Given the description of an element on the screen output the (x, y) to click on. 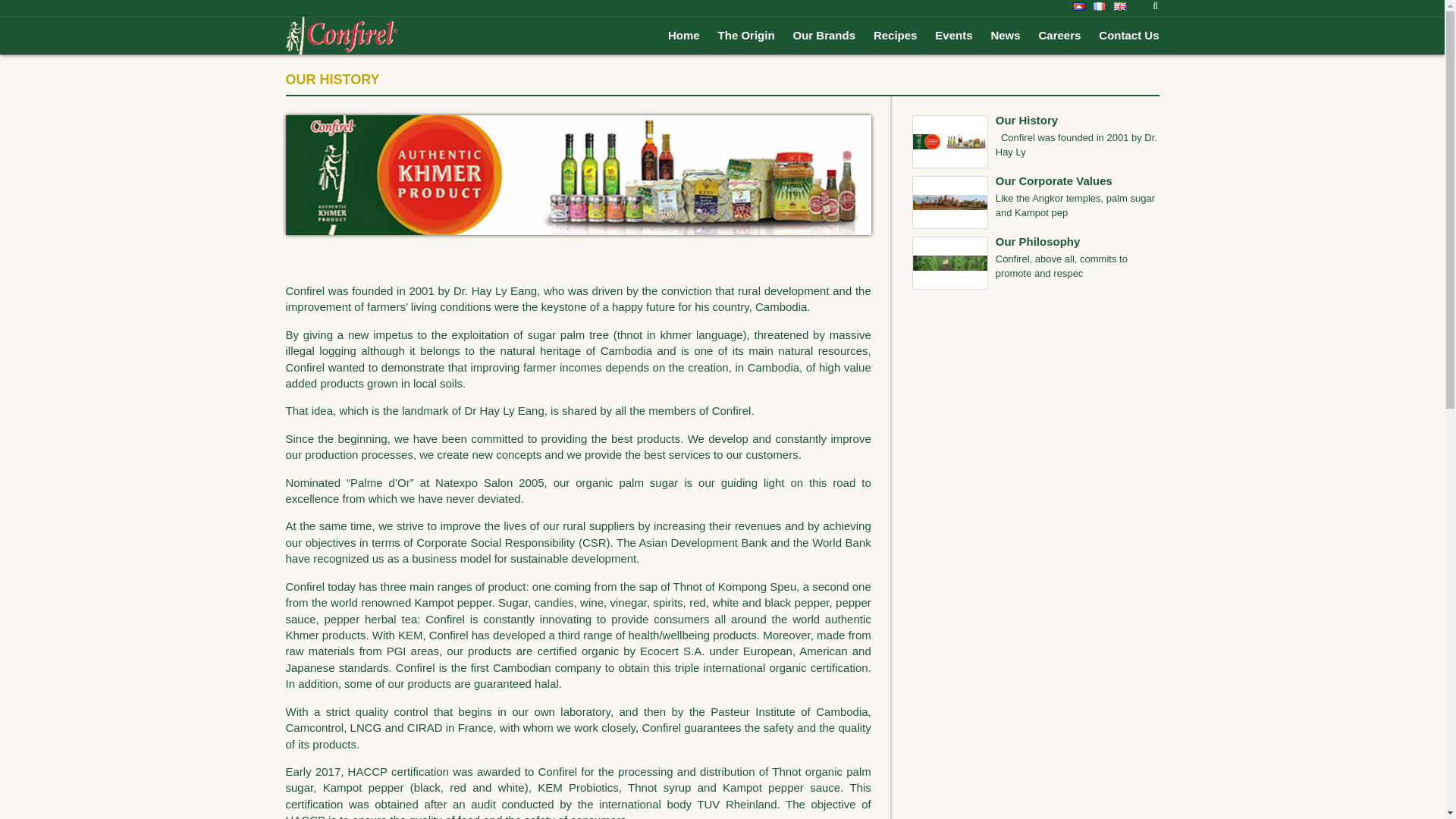
Our Brands (824, 34)
Home (684, 34)
The Origin (745, 34)
